Given the description of an element on the screen output the (x, y) to click on. 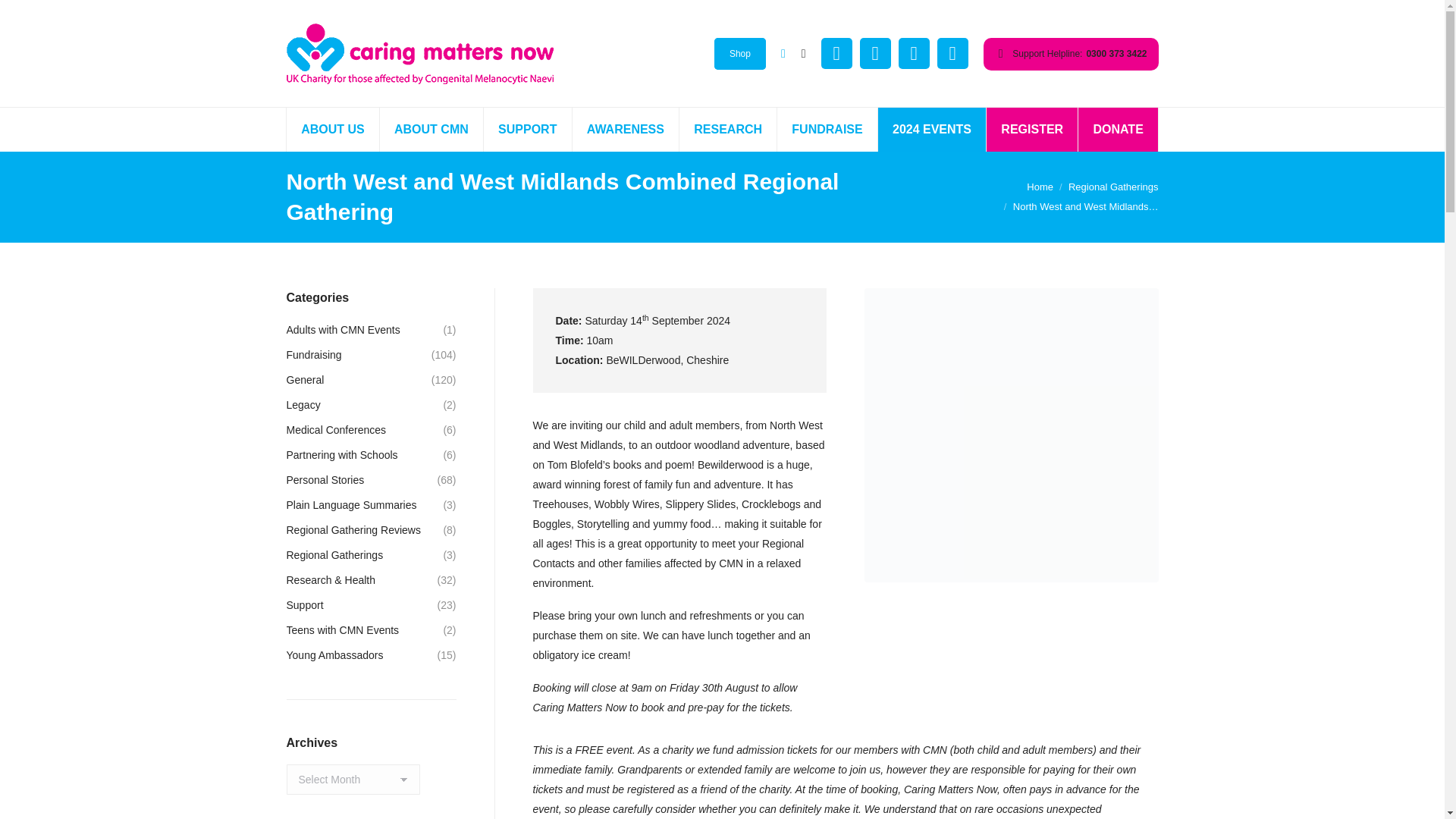
Home (1039, 186)
Go! (24, 16)
Shop (739, 53)
Facebook page opens in new window (836, 52)
ABOUT US (333, 129)
Regional Gatherings (1113, 186)
Instagram page opens in new window (914, 52)
North West and West Midlands Combined Regional Gathering (1011, 435)
Twitter page opens in new window (875, 52)
SUPPORT (527, 129)
